Given the description of an element on the screen output the (x, y) to click on. 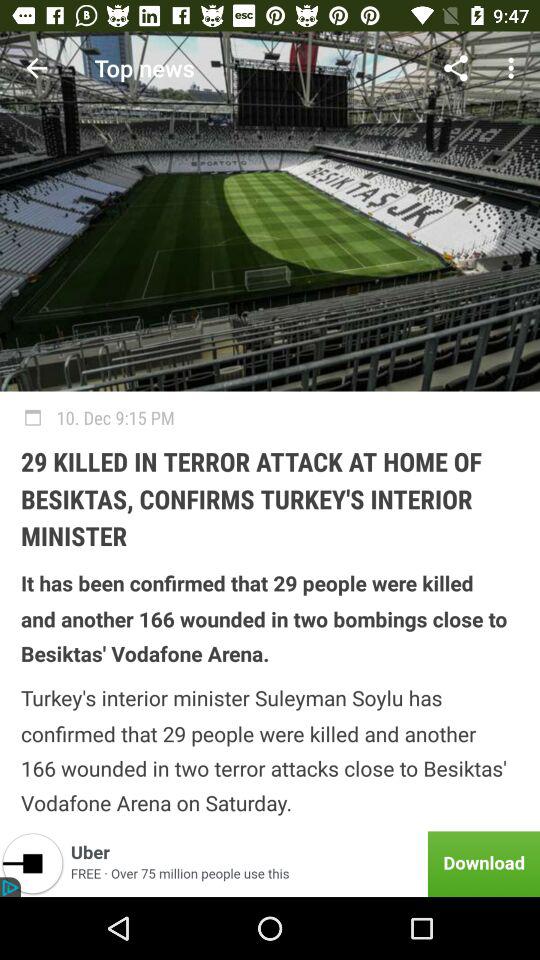
choose icon above 10 dec 9 (455, 67)
